Given the description of an element on the screen output the (x, y) to click on. 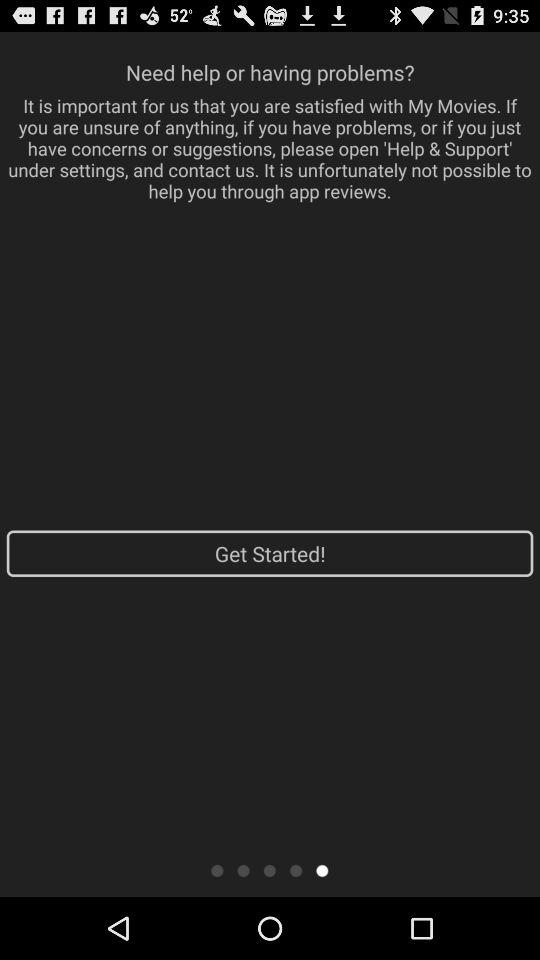
jump to get started! (269, 553)
